Given the description of an element on the screen output the (x, y) to click on. 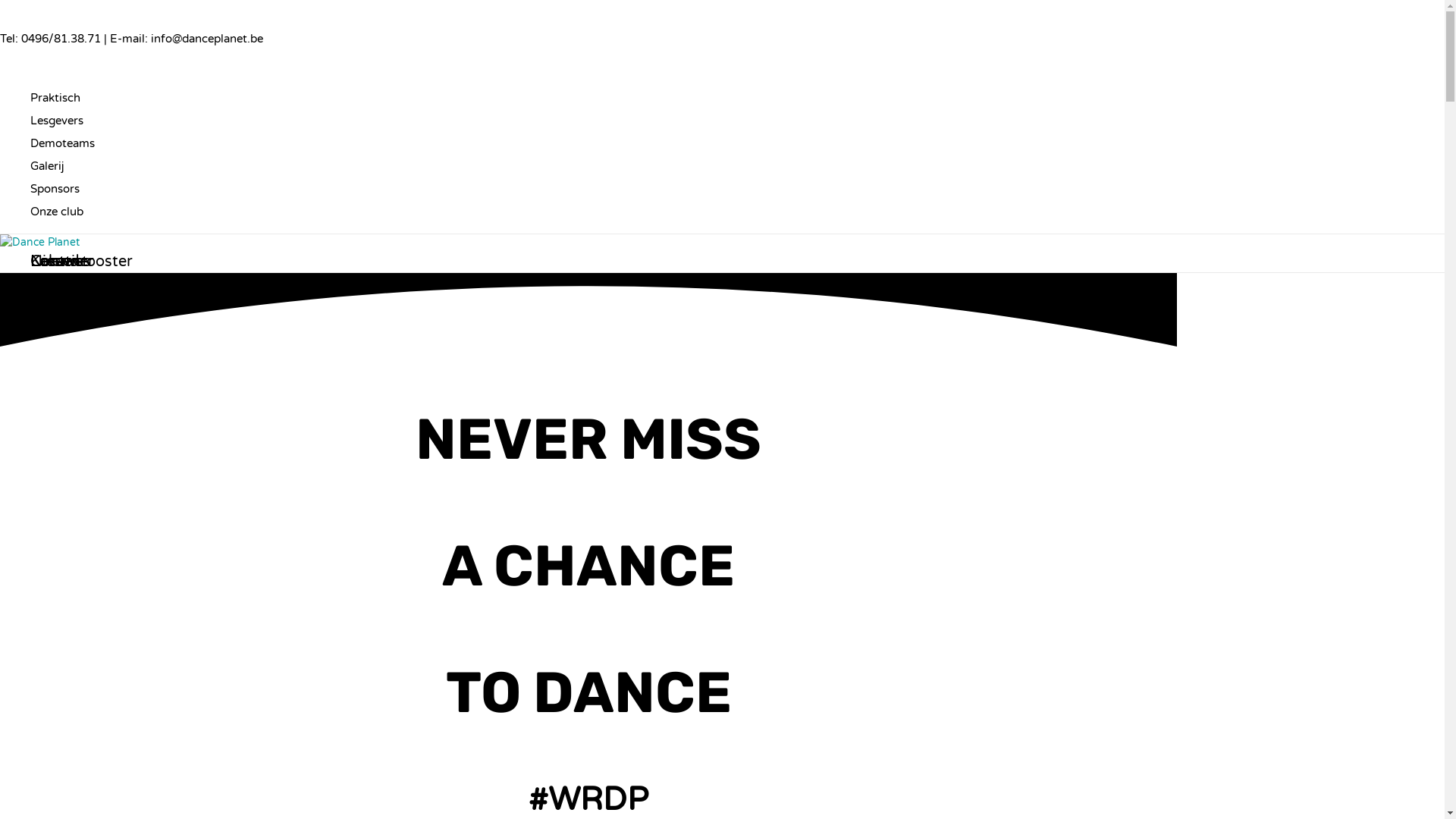
E-mail: info@danceplanet.be Element type: text (186, 38)
Sponsors Element type: text (62, 188)
Galerij Element type: text (62, 165)
Lesgevers Element type: text (62, 120)
Demoteams Element type: text (62, 142)
Praktisch Element type: text (62, 97)
Tel: 0496/81.38.71 Element type: text (51, 38)
Onze club Element type: text (62, 211)
